Given the description of an element on the screen output the (x, y) to click on. 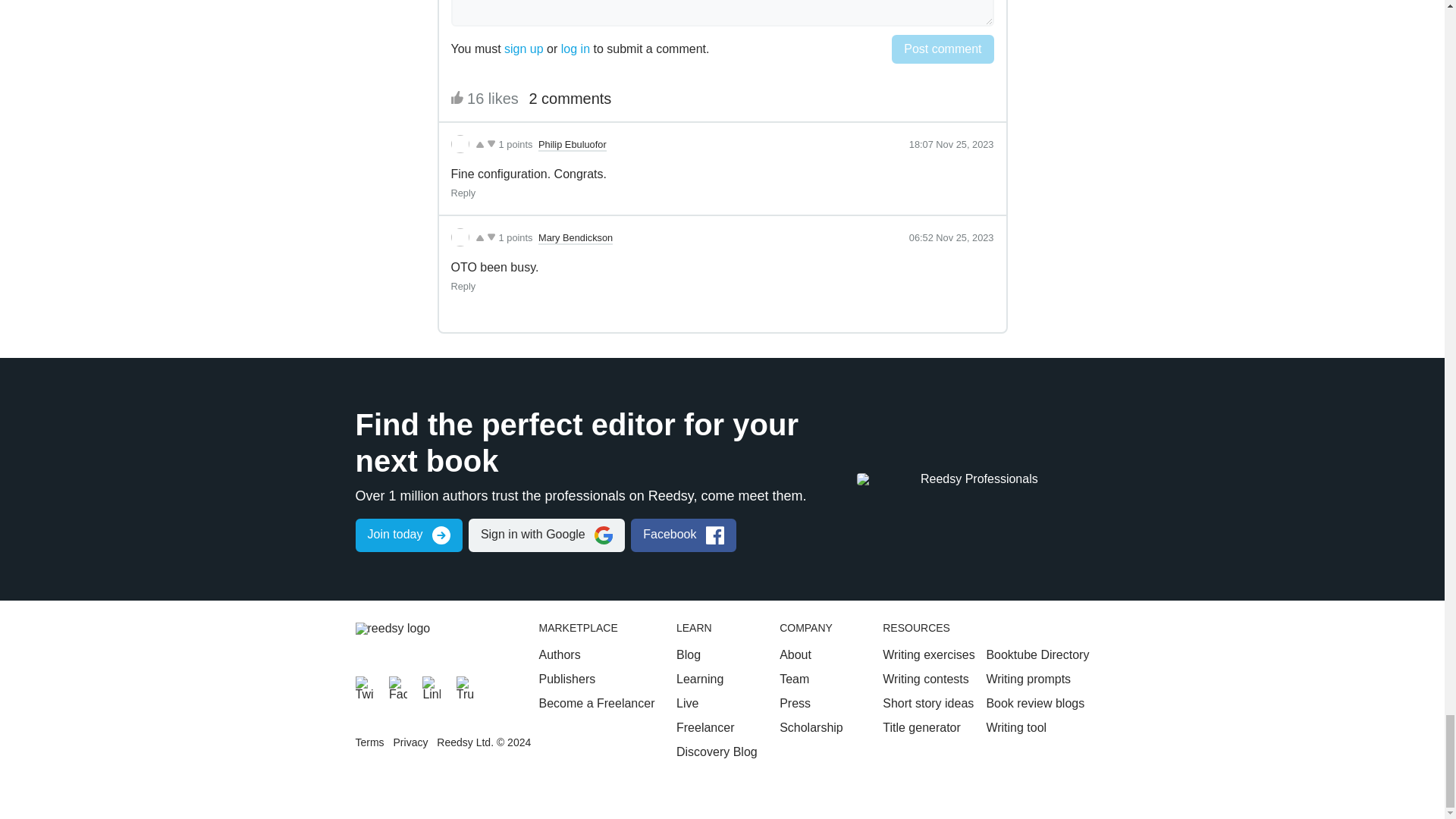
Trustpilot (465, 685)
Sign in with Facebook (683, 535)
Post comment (941, 49)
Sign up (408, 535)
Sign in with Google (546, 535)
Facebook (397, 685)
LinkedIn (431, 685)
Twitter (363, 685)
